Given the description of an element on the screen output the (x, y) to click on. 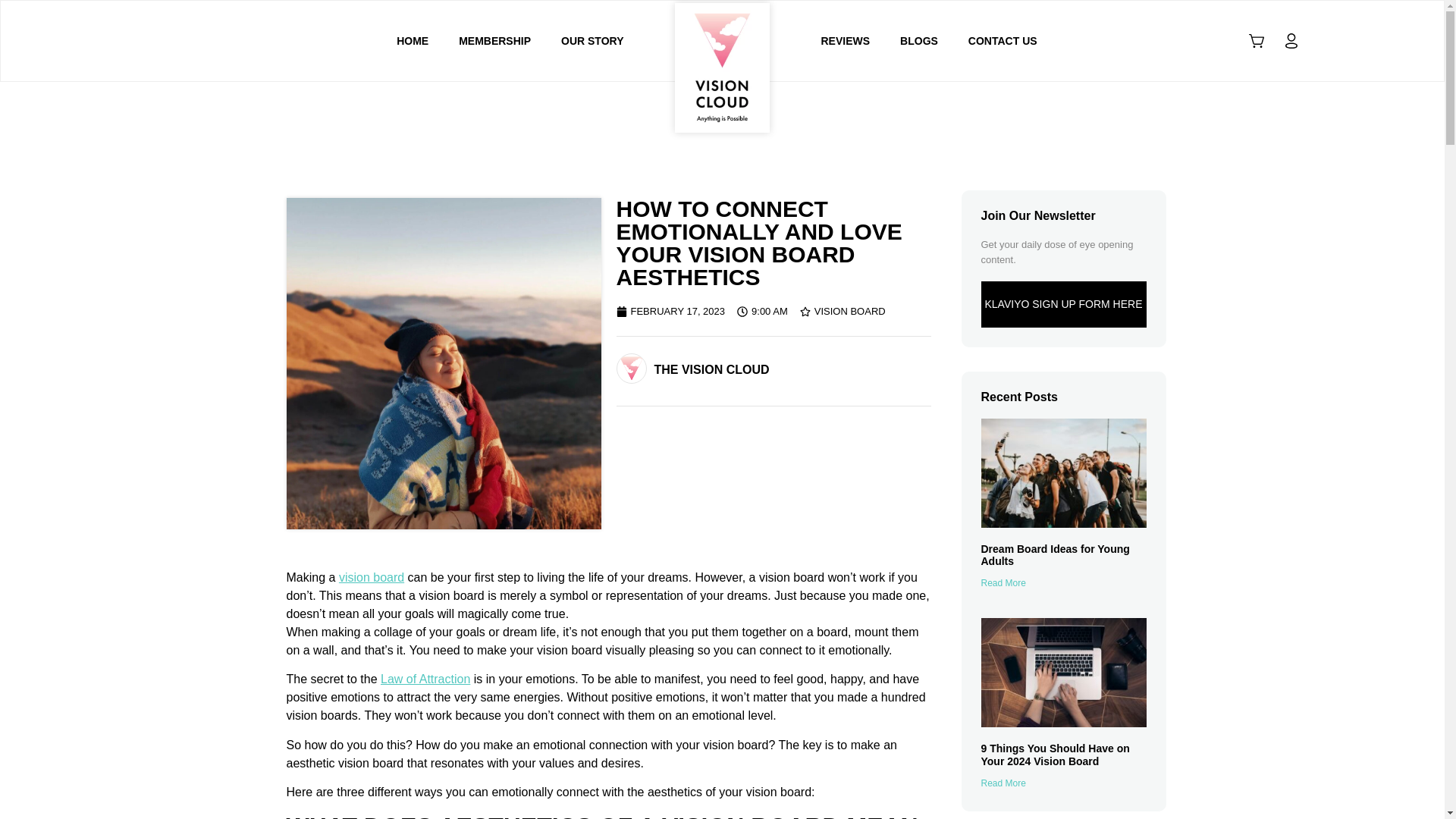
BLOGS (919, 40)
vision board (371, 576)
HOME (412, 40)
FEBRUARY 17, 2023 (670, 311)
OUR STORY (592, 40)
CONTACT US (1002, 40)
VISION BOARD (849, 310)
MEMBERSHIP (495, 40)
Law of Attraction (425, 678)
REVIEWS (845, 40)
